Given the description of an element on the screen output the (x, y) to click on. 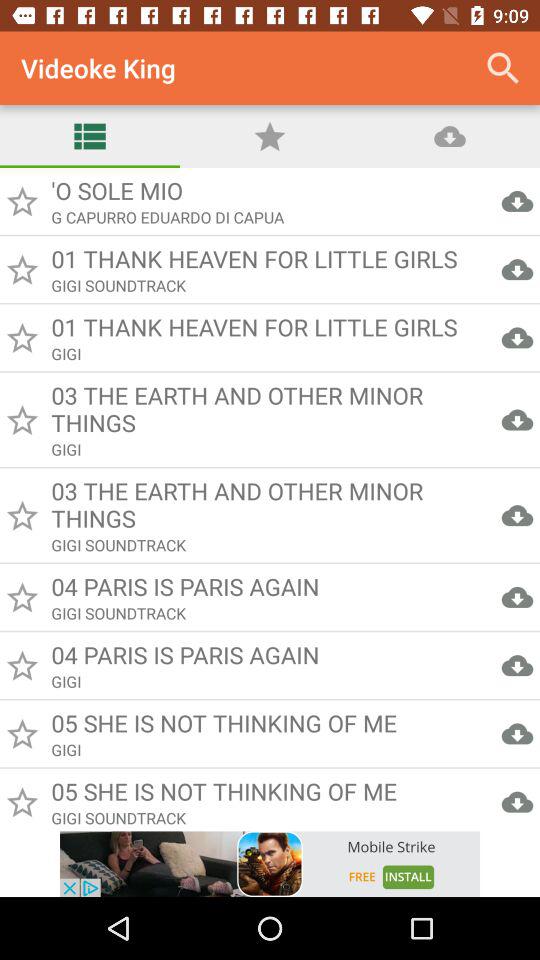
download soundtrack (270, 499)
